Given the description of an element on the screen output the (x, y) to click on. 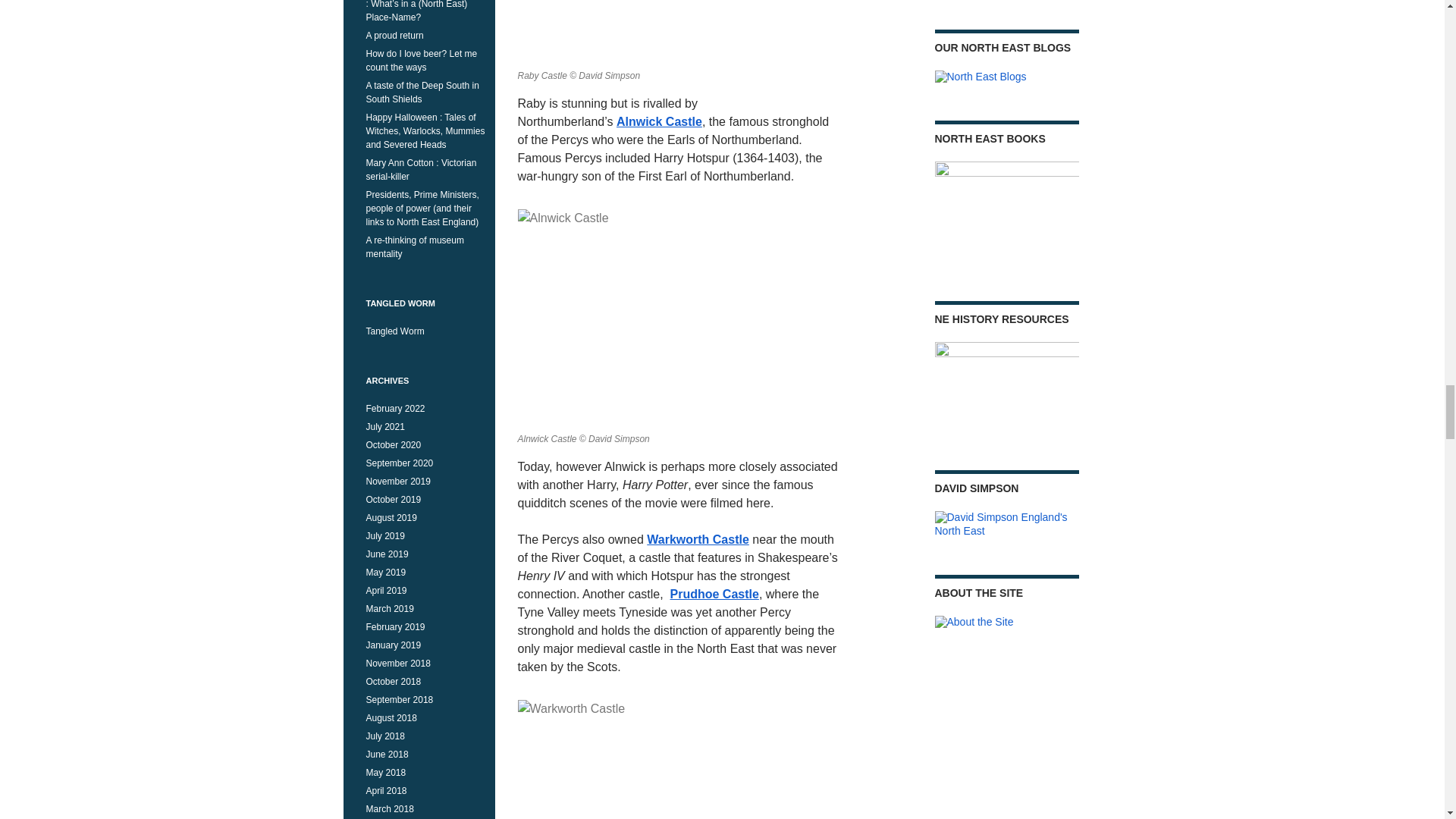
About the site (973, 622)
